Given the description of an element on the screen output the (x, y) to click on. 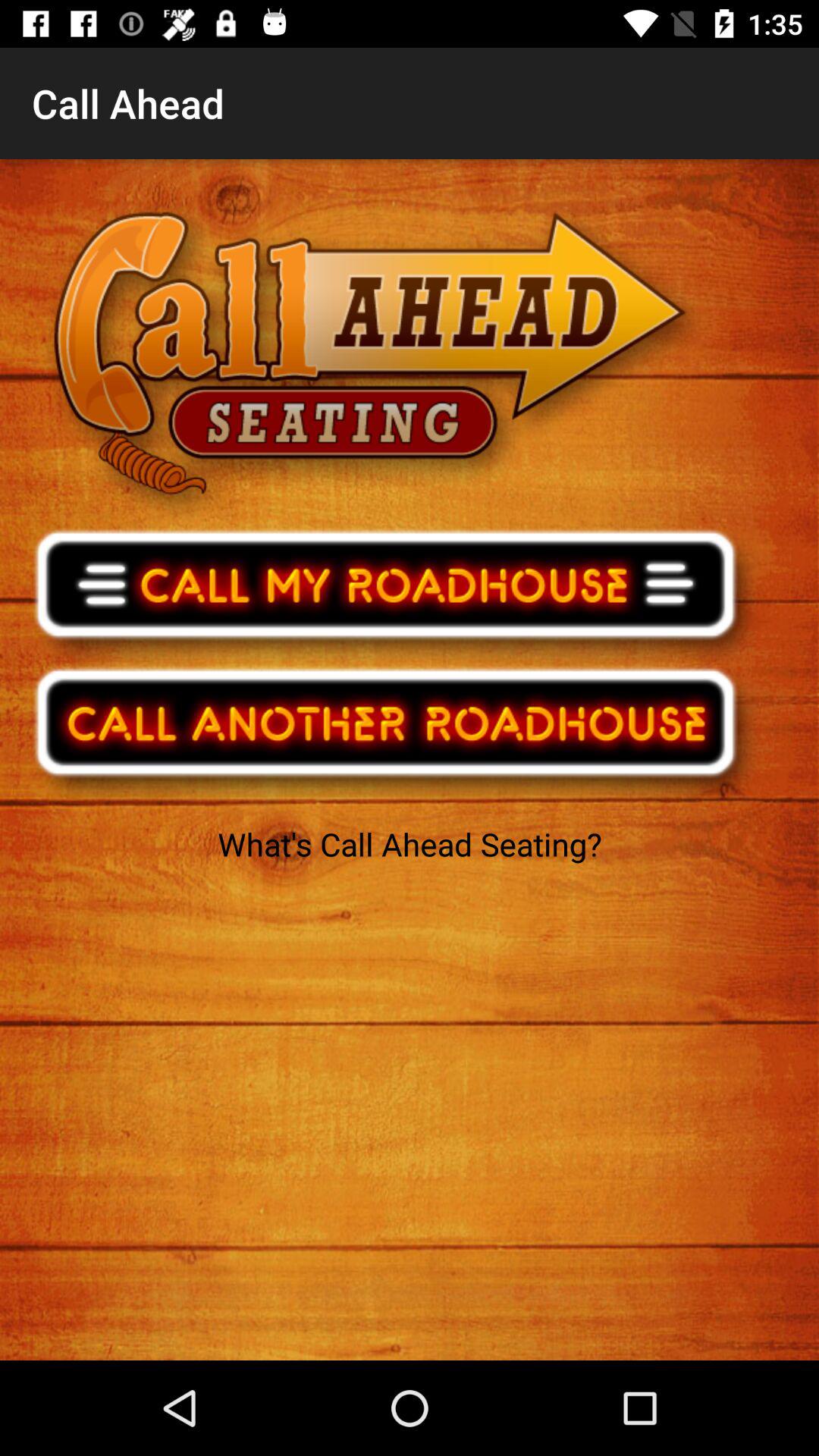
call store (395, 593)
